Given the description of an element on the screen output the (x, y) to click on. 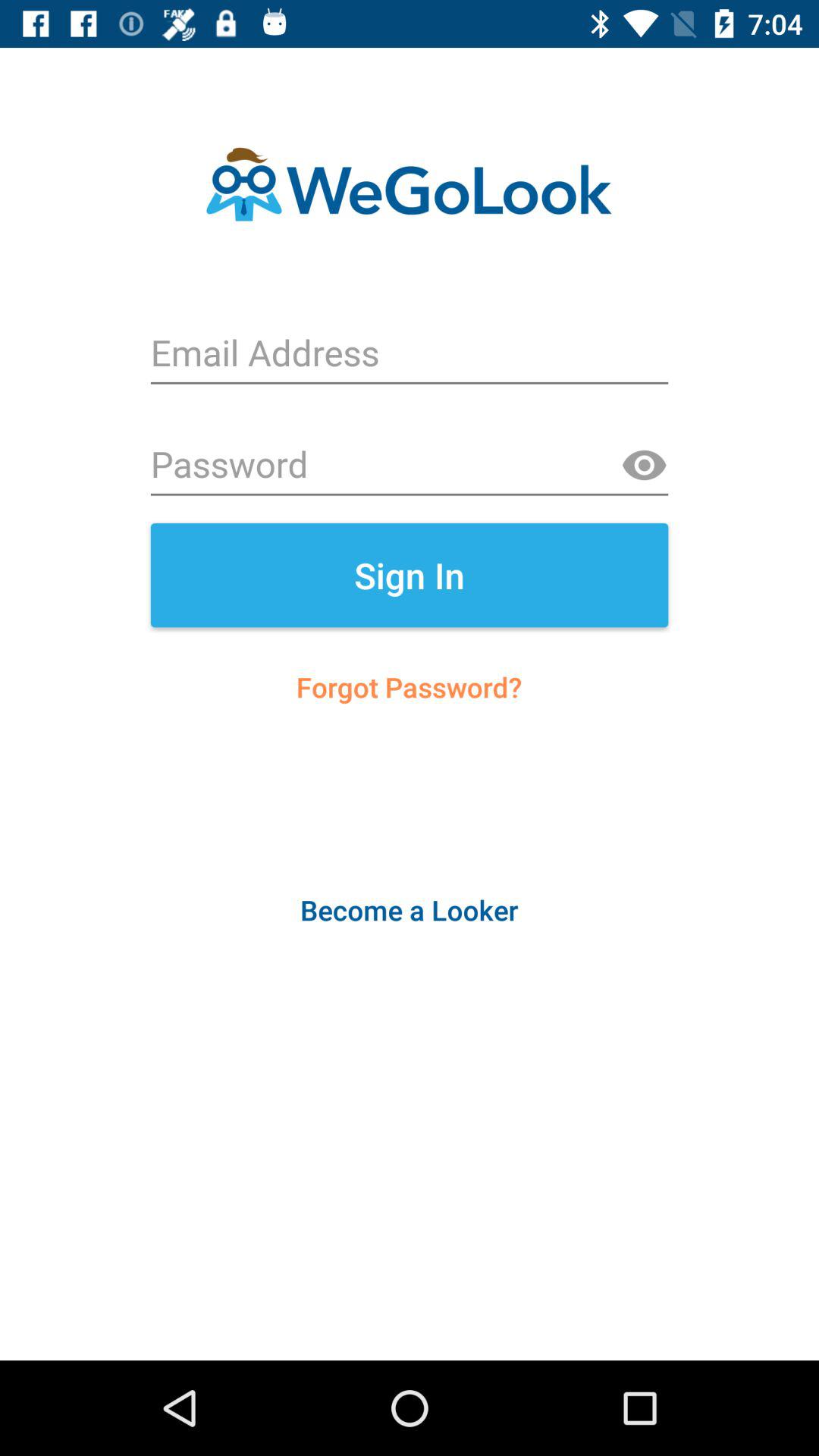
enter password (409, 466)
